Given the description of an element on the screen output the (x, y) to click on. 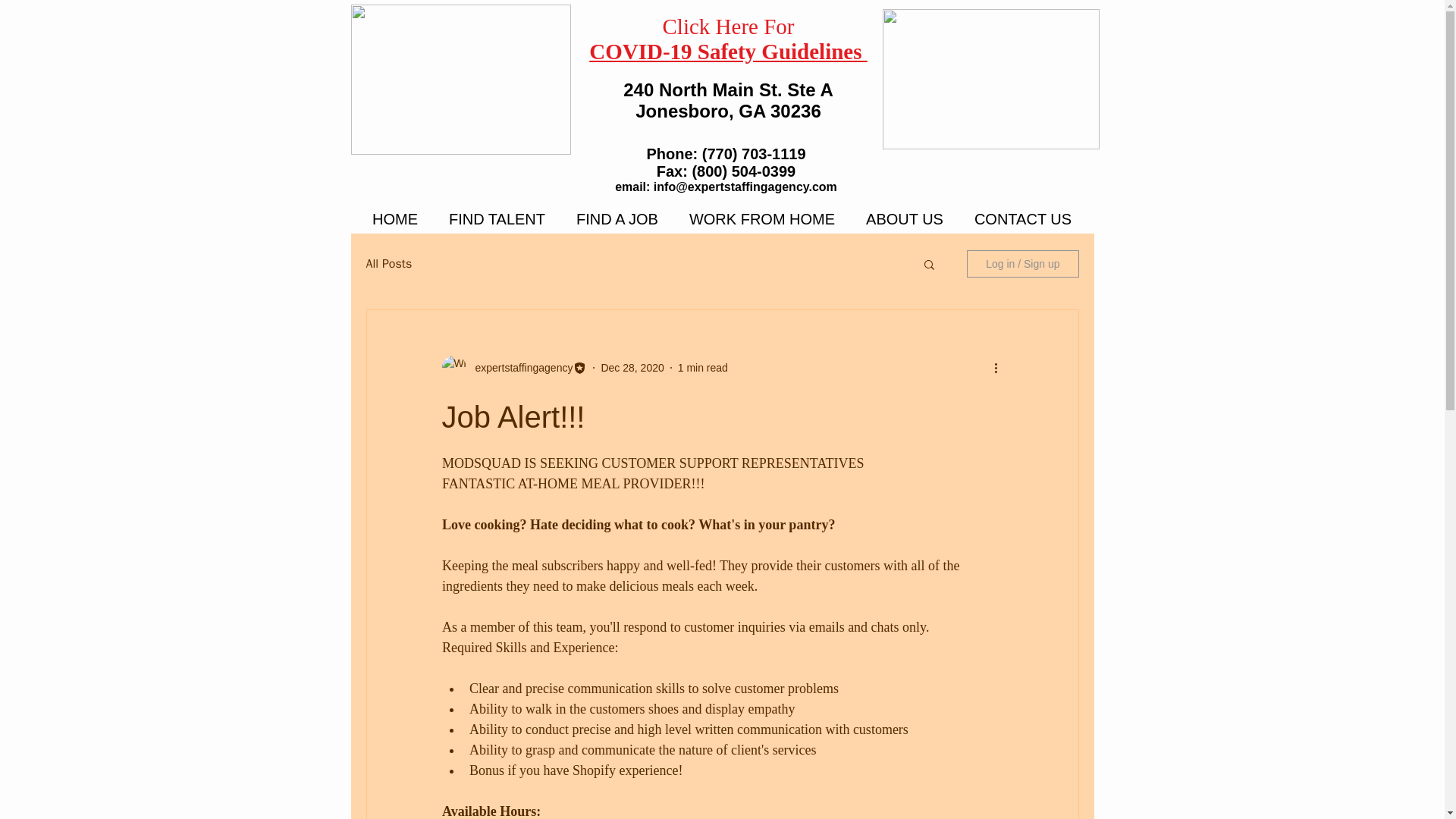
CONTACT US (1022, 218)
All Posts (388, 263)
WORK FROM HOME (761, 218)
FIND TALENT (496, 218)
HOME (394, 218)
FIND A JOB (617, 218)
ABOUT US (904, 218)
Dec 28, 2020 (631, 367)
COVID-19 Safety Guidelines  (728, 51)
1 min read (703, 367)
expertstaffingagency (518, 367)
